Given the description of an element on the screen output the (x, y) to click on. 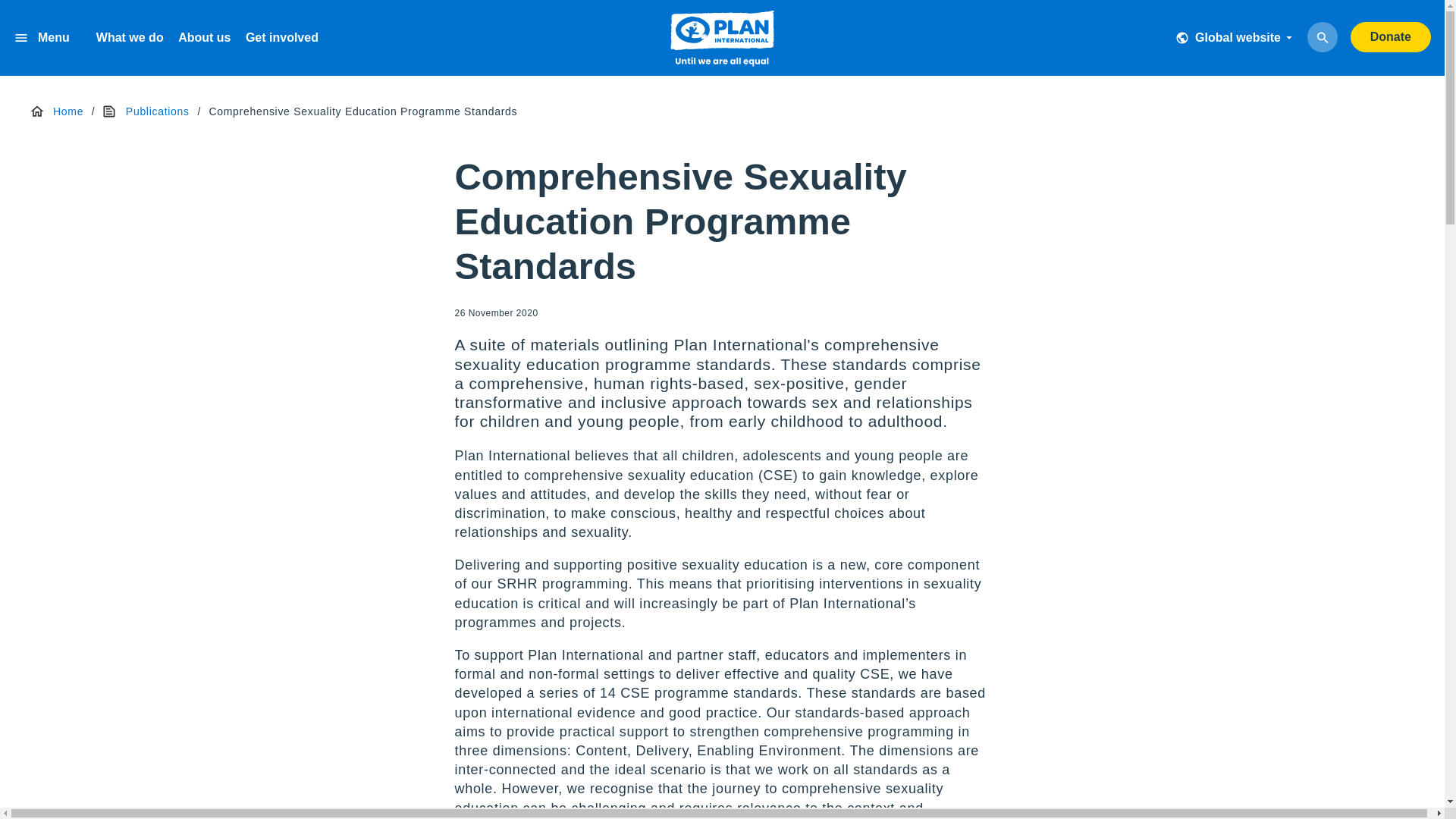
Get involved (282, 37)
About us (203, 37)
Plan International (721, 41)
What we do (129, 37)
